Given the description of an element on the screen output the (x, y) to click on. 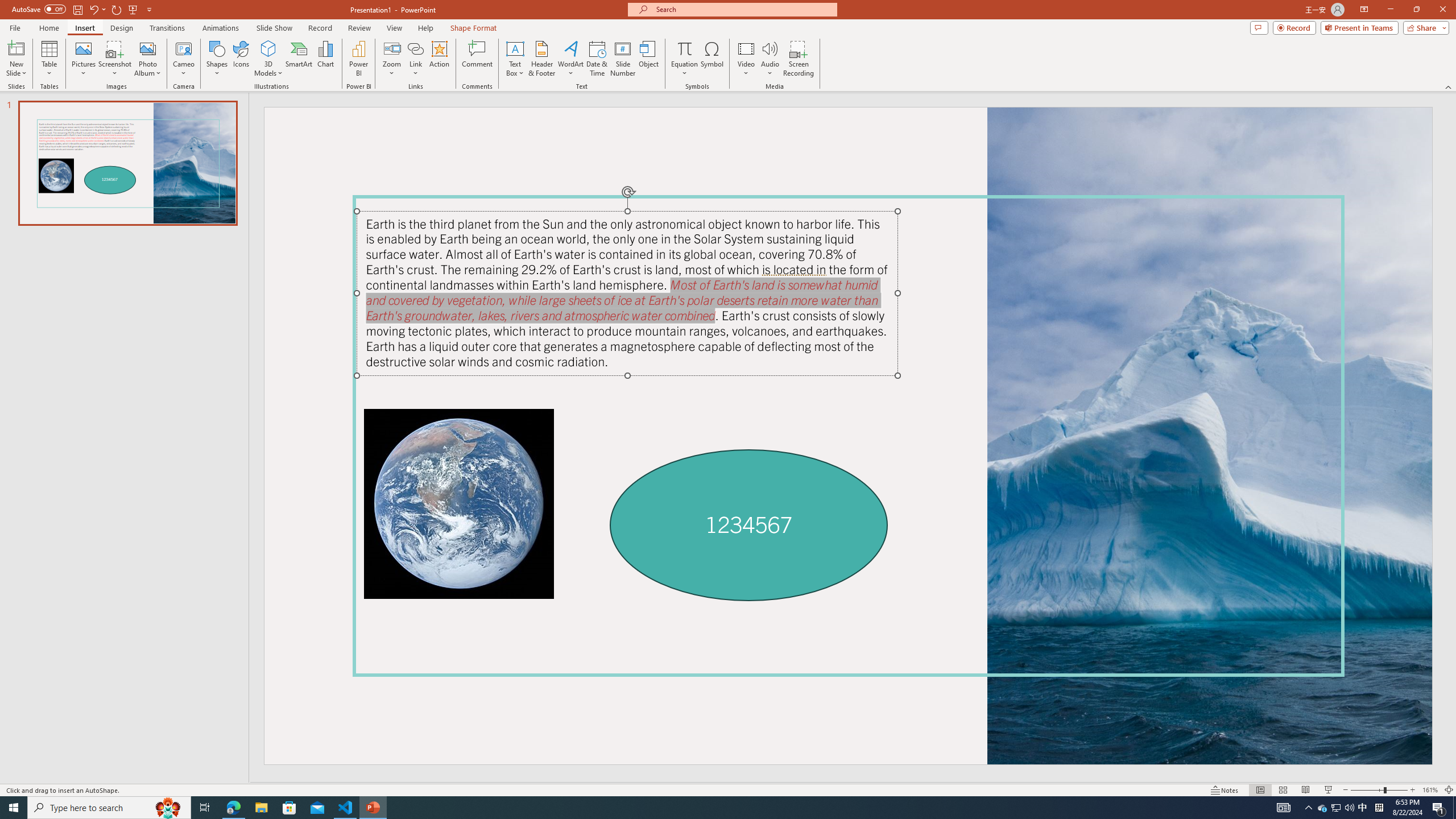
Header & Footer... (541, 58)
Video (745, 58)
Date & Time... (596, 58)
Zoom 161% (1430, 790)
Object... (649, 58)
Screenshot (114, 58)
